Given the description of an element on the screen output the (x, y) to click on. 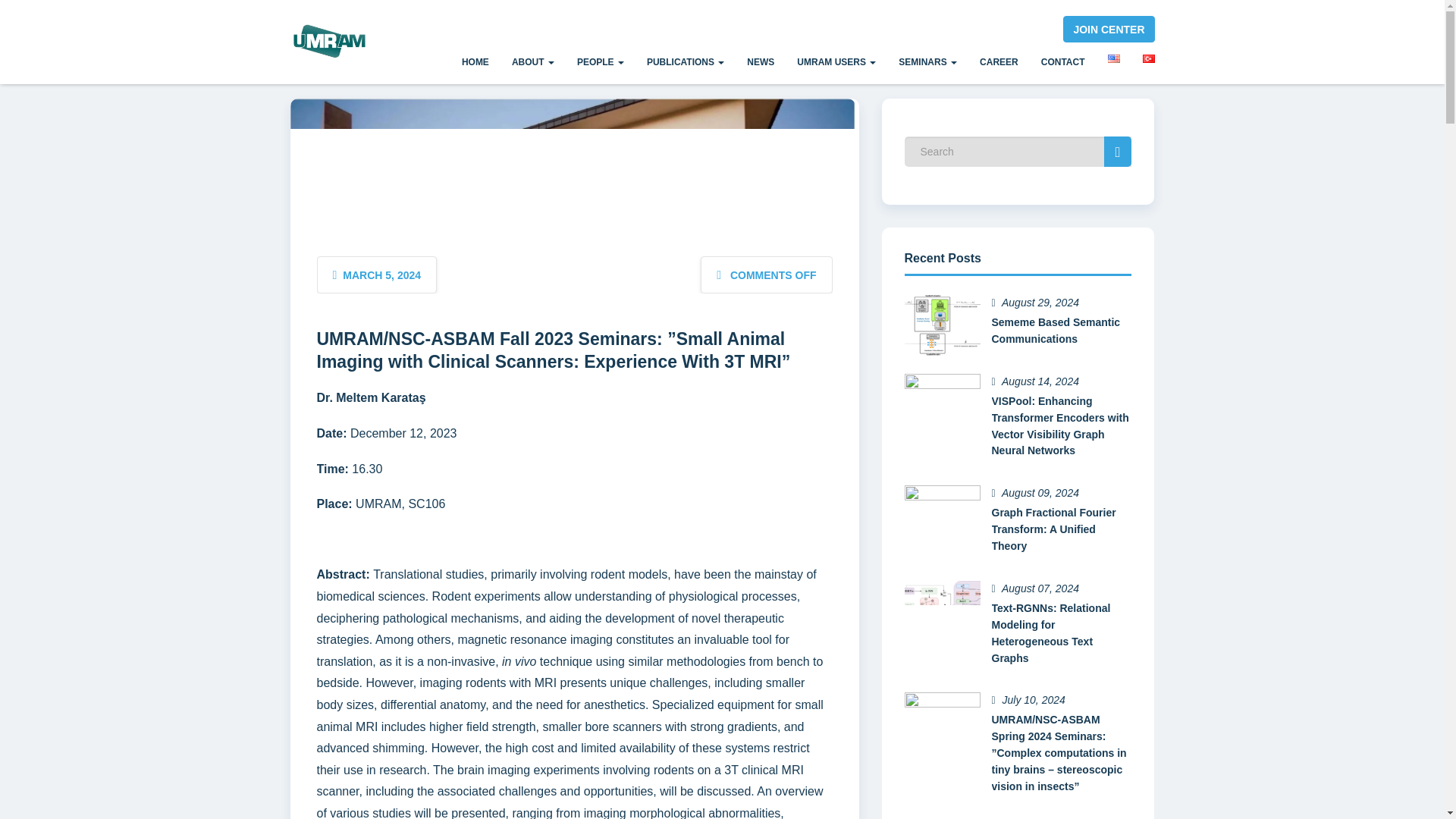
CAREER (998, 63)
People (600, 63)
HOME (474, 63)
About (533, 63)
PUBLICATIONS (684, 63)
SEMINARS (927, 63)
UMRAM USERS (836, 63)
JOIN CENTER (1108, 28)
ABOUT (533, 63)
Home (474, 63)
